Given the description of an element on the screen output the (x, y) to click on. 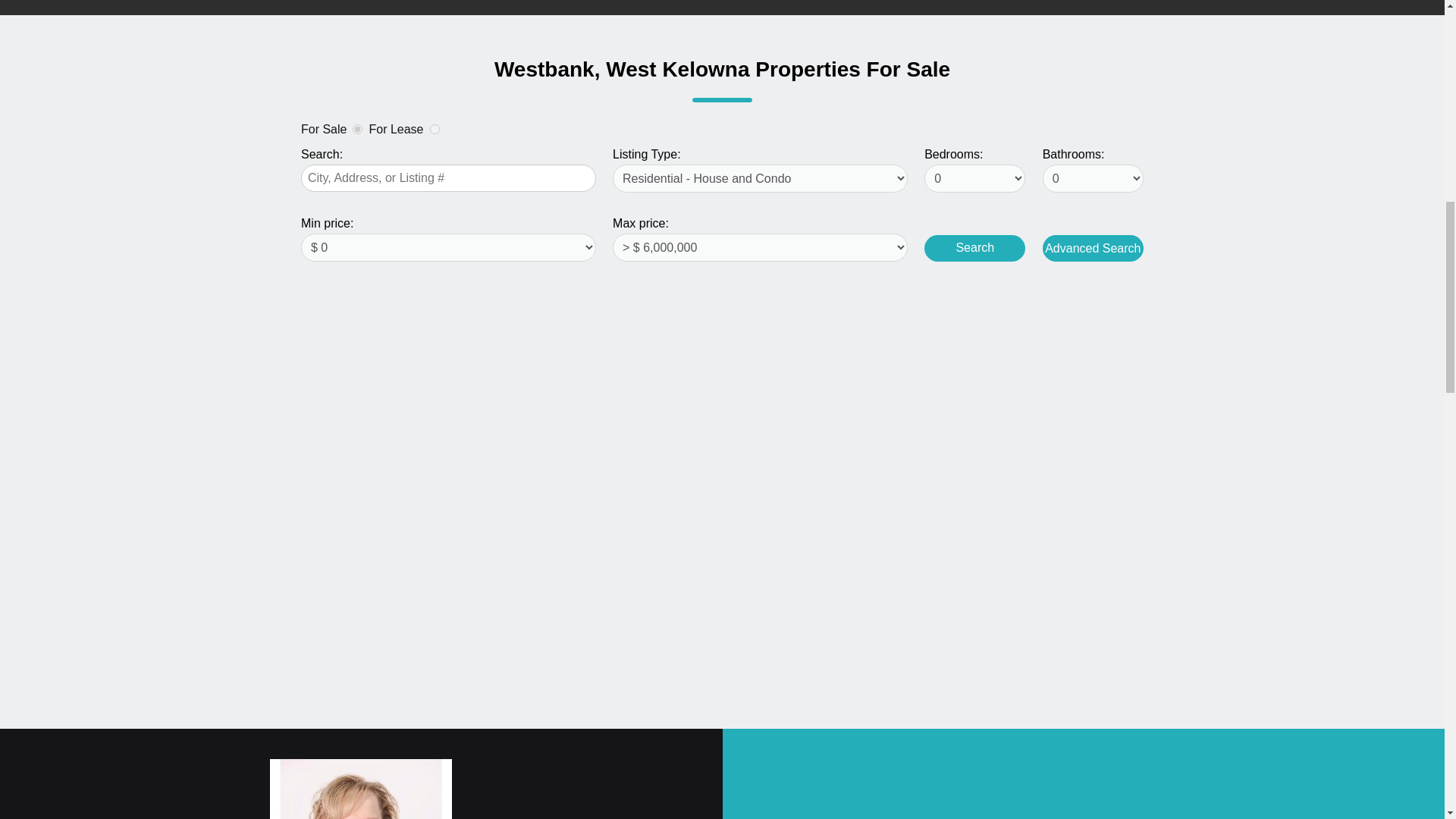
Advanced Search (1092, 248)
false (434, 129)
Sandy Chevallier (360, 789)
Search (974, 248)
true (357, 129)
